Given the description of an element on the screen output the (x, y) to click on. 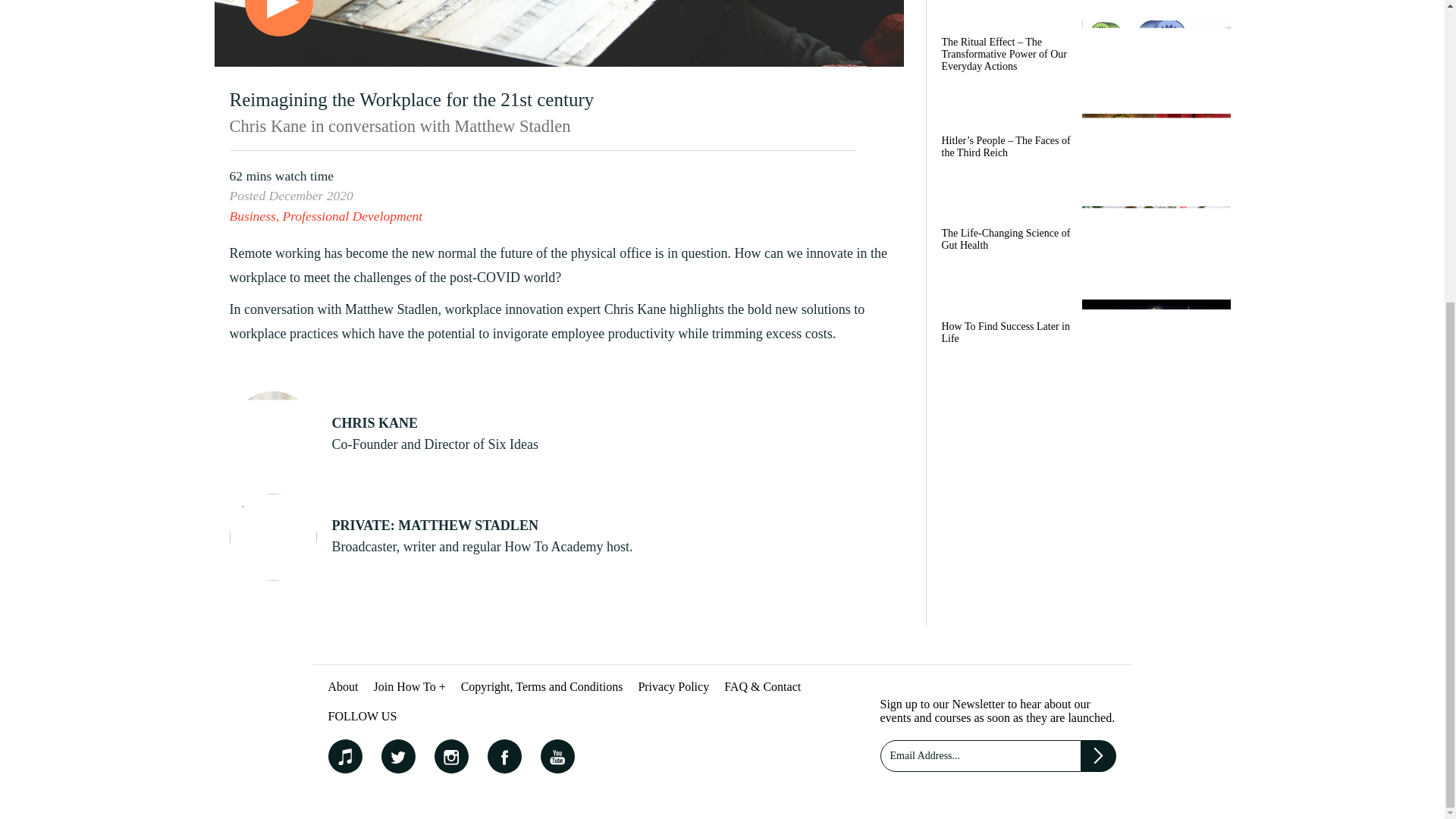
Copyright, Terms and Conditions (542, 686)
Privacy Policy (673, 686)
How To Find Success Later in Life (1082, 337)
The Life-Changing Science of Gut Health (1082, 244)
About (342, 686)
Subscribe (1098, 756)
Subscribe (1098, 756)
